Given the description of an element on the screen output the (x, y) to click on. 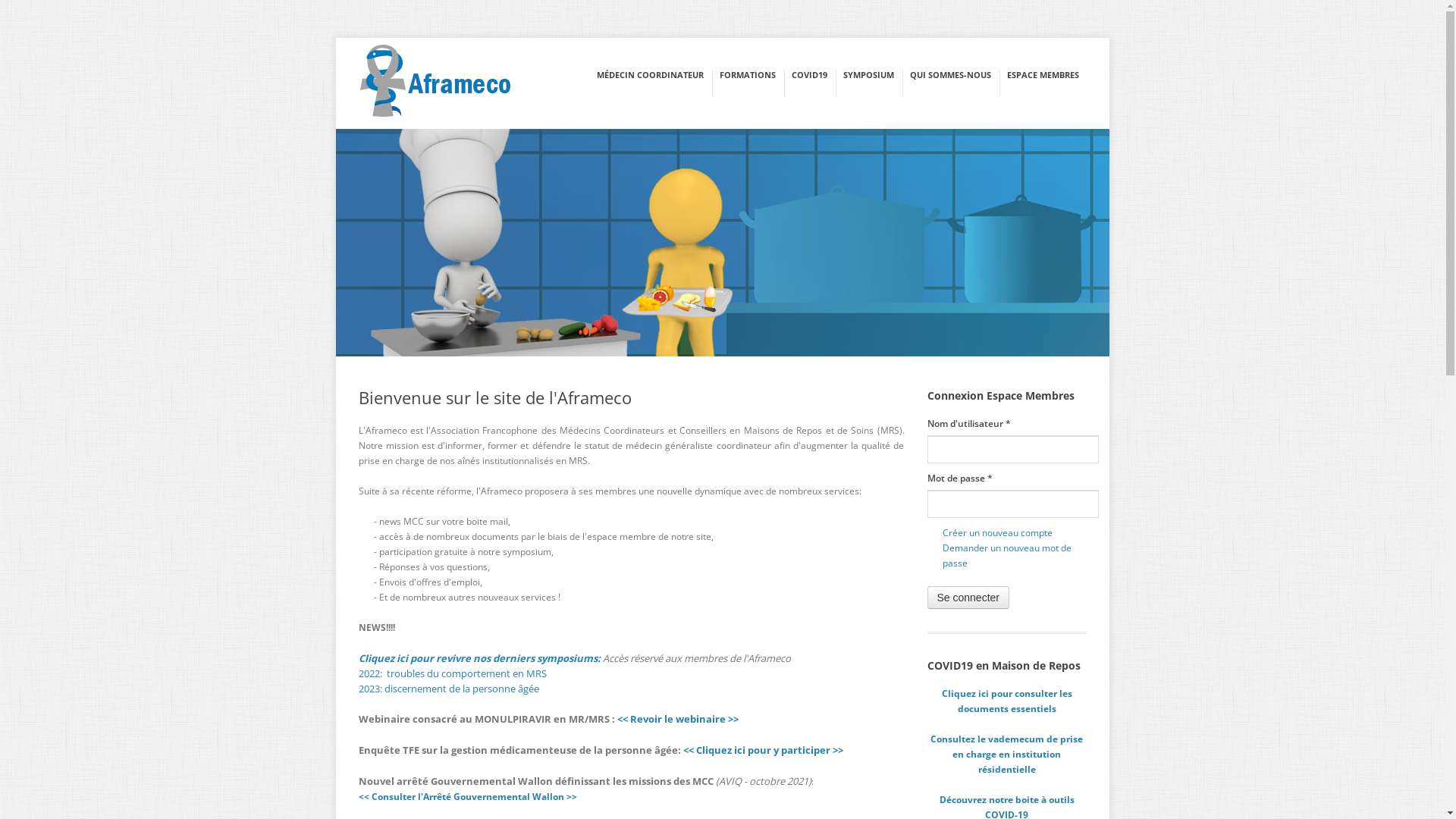
SYMPOSIUM Element type: text (868, 73)
<< Cliquez ici pour y participer >> Element type: text (762, 749)
Accueil Element type: hover (434, 82)
Aller au contenu principal Element type: text (53, 37)
COVID19 Element type: text (809, 73)
Cliquez ici pour consulter les documents essentiels Element type: text (1006, 701)
FORMATIONS Element type: text (746, 73)
Se connecter Element type: text (967, 597)
QUI SOMMES-NOUS Element type: text (950, 73)
ESPACE MEMBRES Element type: text (1042, 73)
<< Revoir le webinaire >> Element type: text (677, 718)
Demander un nouveau mot de passe Element type: text (1005, 555)
